Given the description of an element on the screen output the (x, y) to click on. 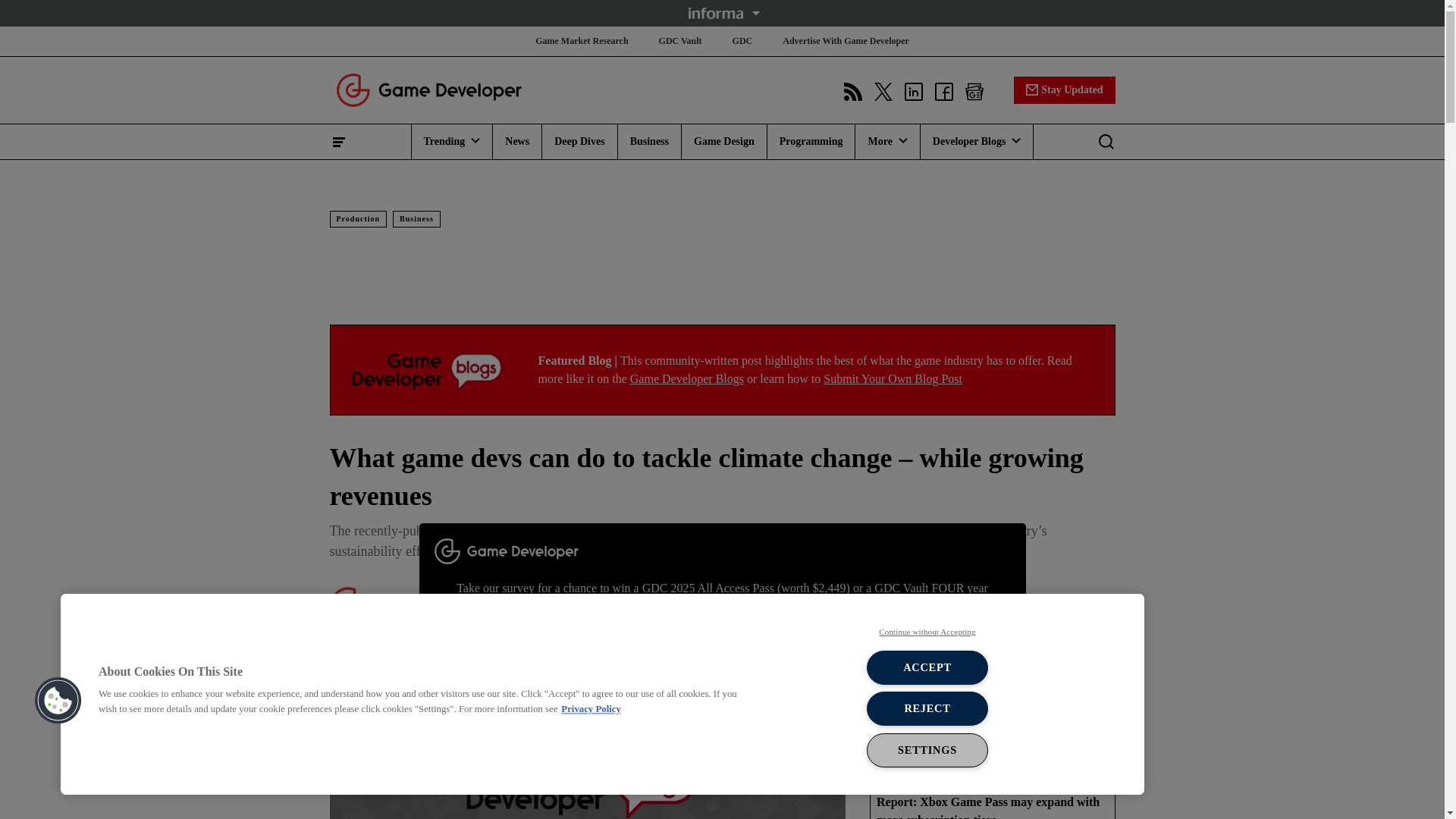
Cookies Button (57, 700)
Advertise With Game Developer (845, 41)
News (517, 141)
Game Developer Logo (428, 90)
GDC Vault (680, 41)
GDC (742, 41)
Stay Updated (1064, 89)
Business (649, 141)
Picture of Rhea Loucas (347, 604)
Game Design (724, 141)
Game Market Research (581, 41)
Game Developer Logo (428, 369)
Programming (810, 141)
Deep Dives (579, 141)
